Given the description of an element on the screen output the (x, y) to click on. 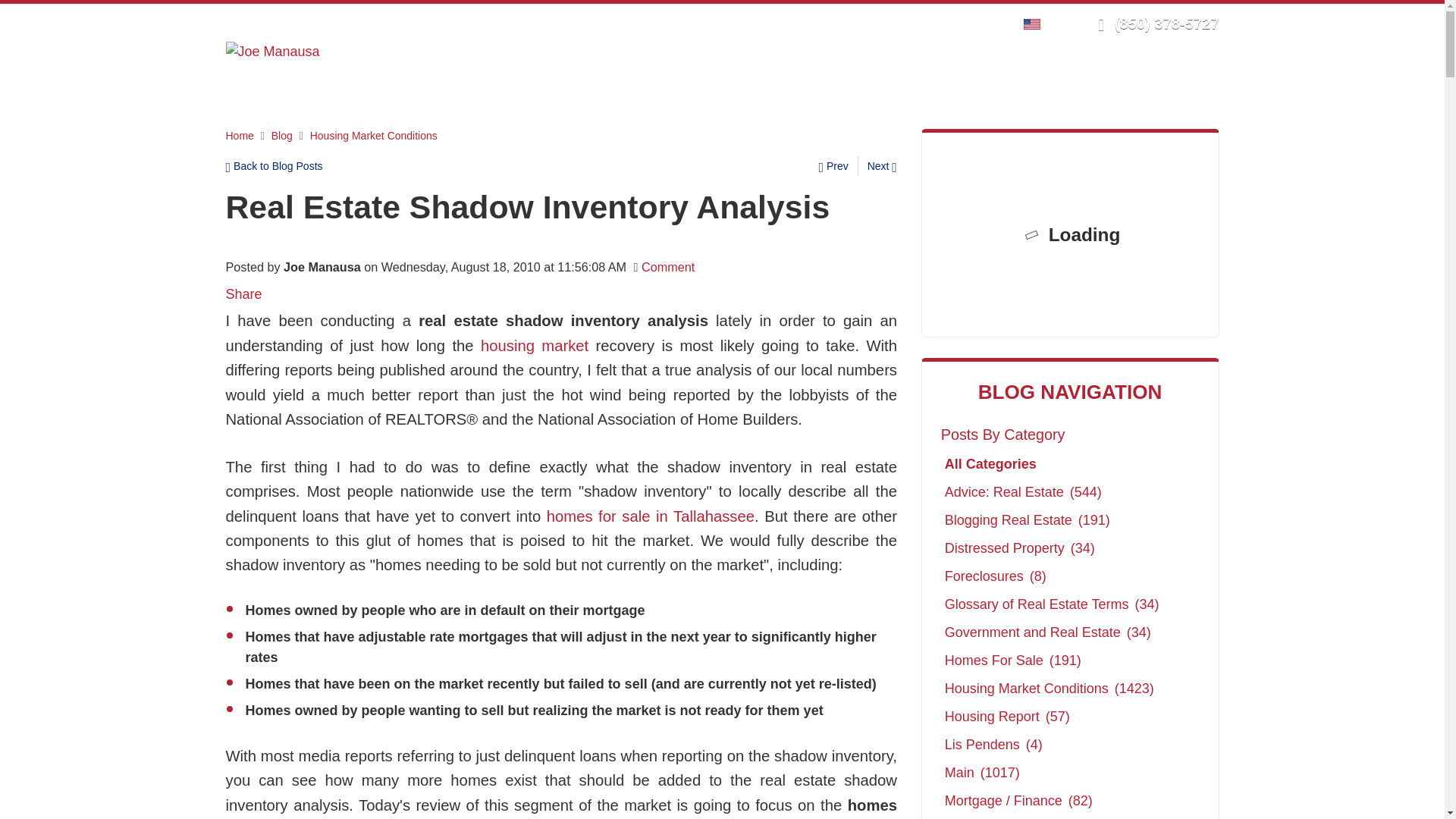
Home Page (272, 50)
Select Language (1035, 23)
Register (948, 23)
Login (900, 23)
Map based search engine for homes for sale in Tallahassee (650, 515)
